Given the description of an element on the screen output the (x, y) to click on. 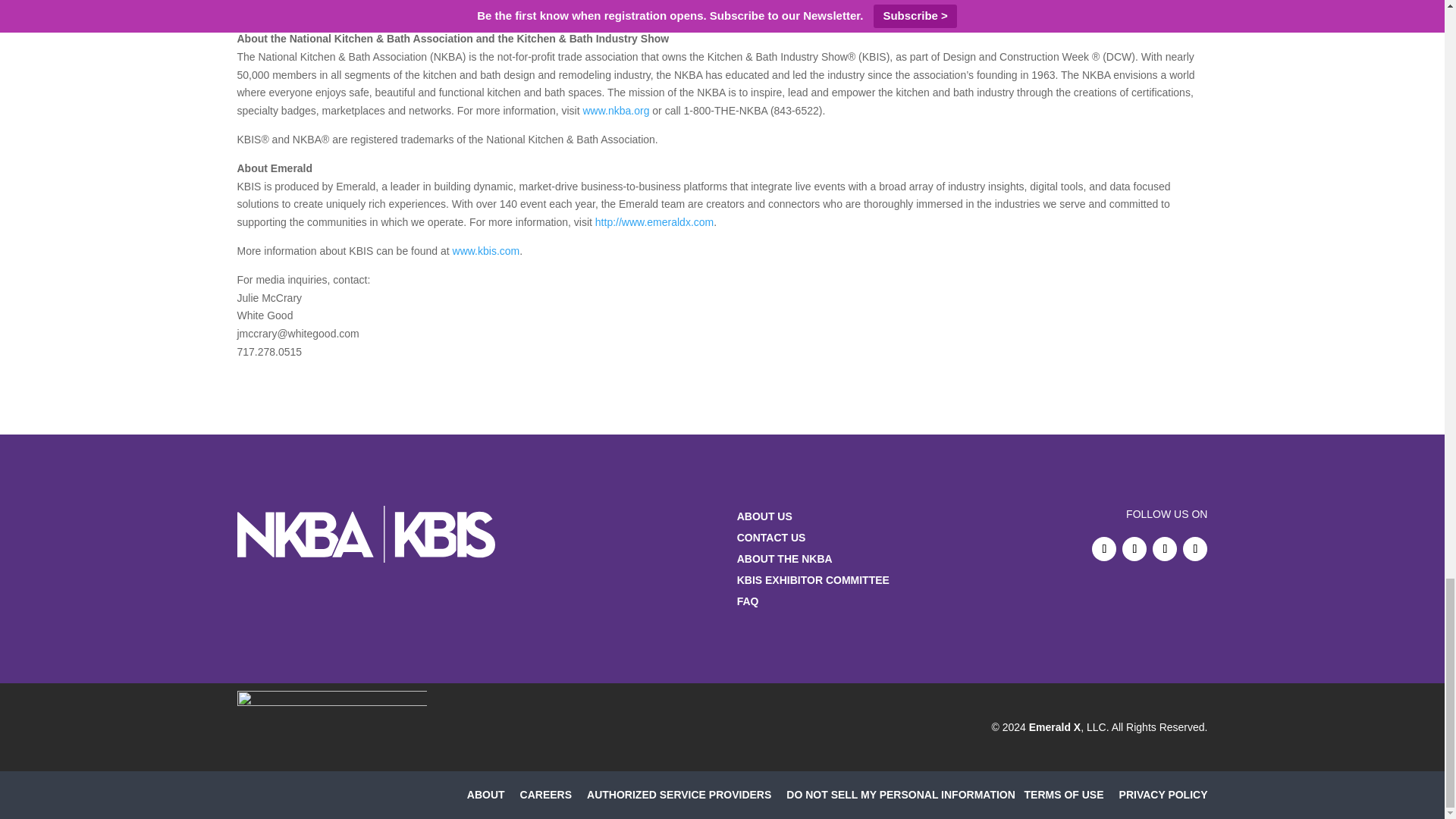
Follow on X (1134, 549)
Follow on Youtube (1194, 549)
Follow on Instagram (1164, 549)
Follow on Facebook (1104, 549)
emelarld-logo (330, 727)
